Given the description of an element on the screen output the (x, y) to click on. 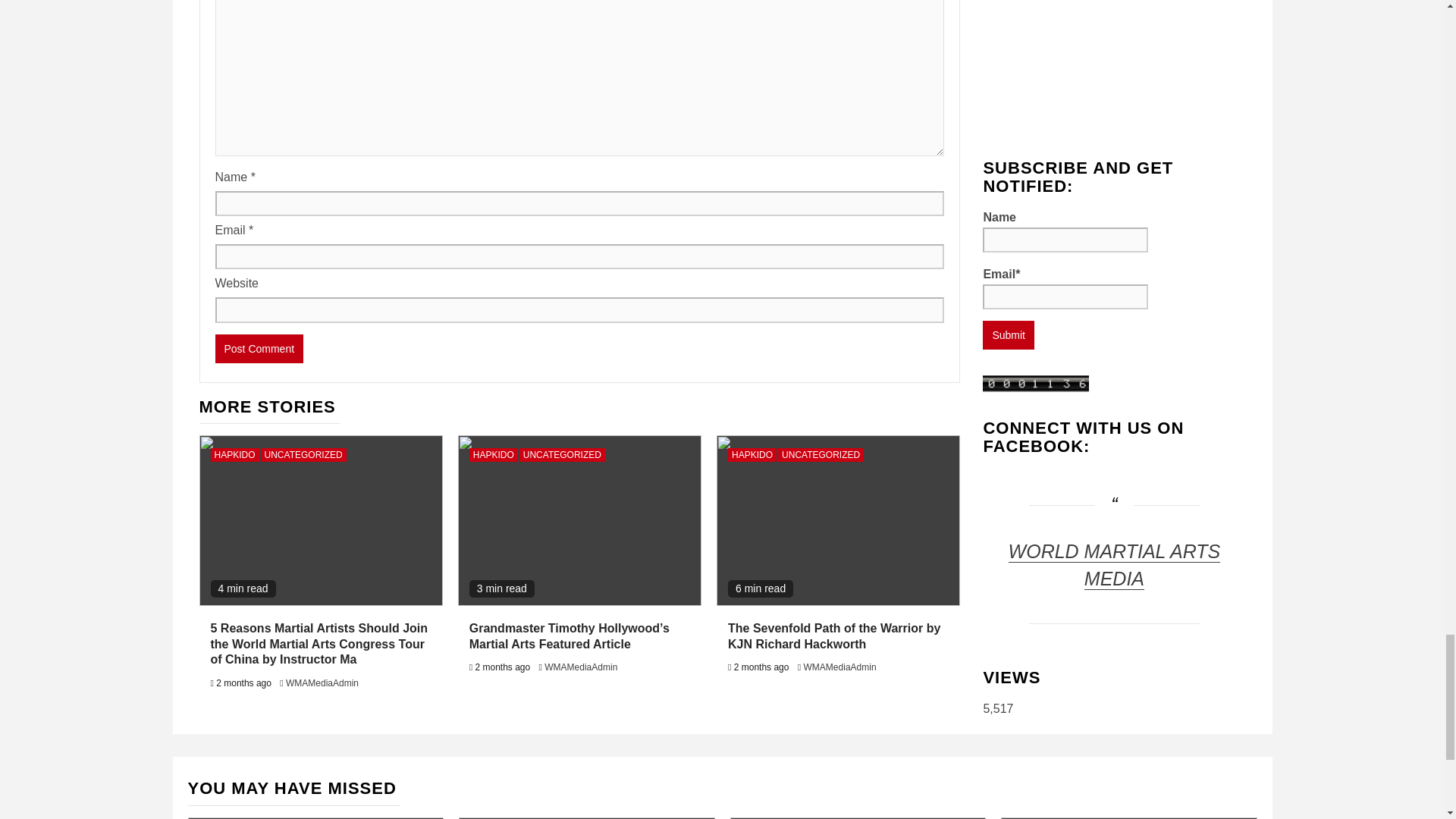
WMAMediaAdmin (580, 666)
UNCATEGORIZED (562, 454)
Post Comment (259, 348)
Post Comment (259, 348)
WMAMediaAdmin (321, 683)
HAPKIDO (235, 454)
HAPKIDO (493, 454)
UNCATEGORIZED (303, 454)
